Given the description of an element on the screen output the (x, y) to click on. 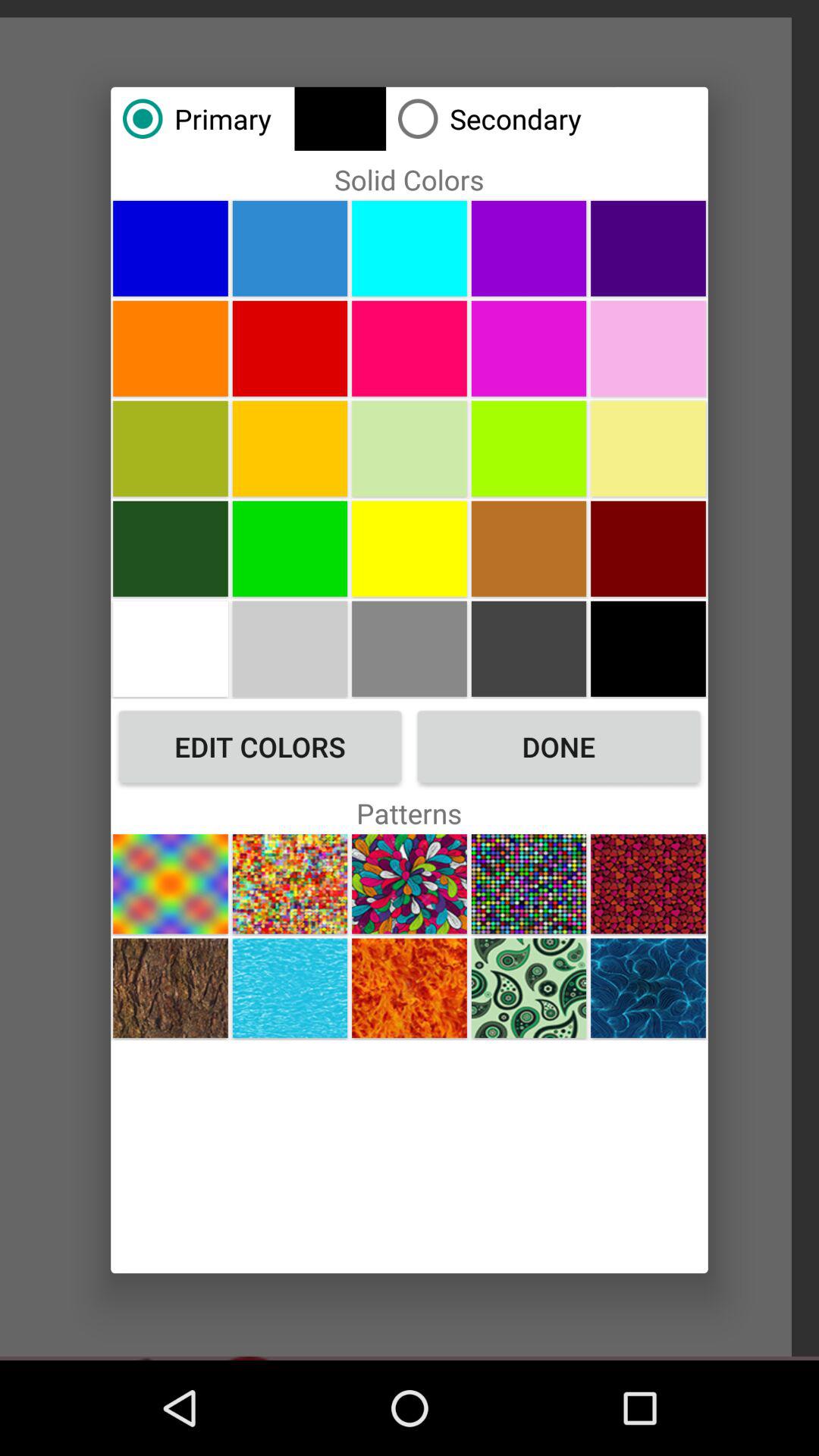
choose color (409, 548)
